Given the description of an element on the screen output the (x, y) to click on. 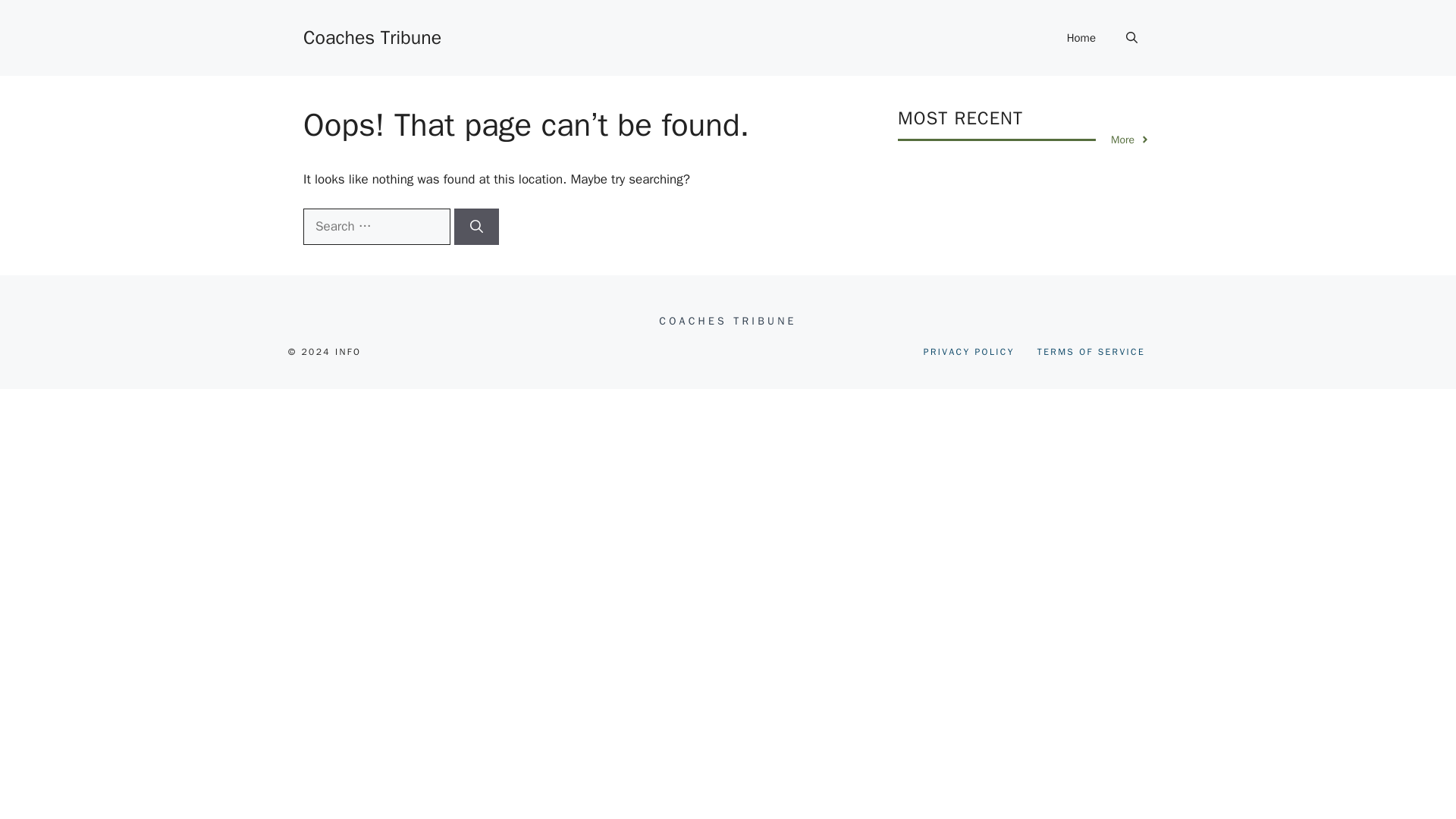
PRIVACY POLICY (968, 351)
Home (1080, 37)
TERMS OF SERVICE (1090, 351)
Coaches Tribune (371, 37)
Search for: (375, 226)
More (1130, 139)
